Given the description of an element on the screen output the (x, y) to click on. 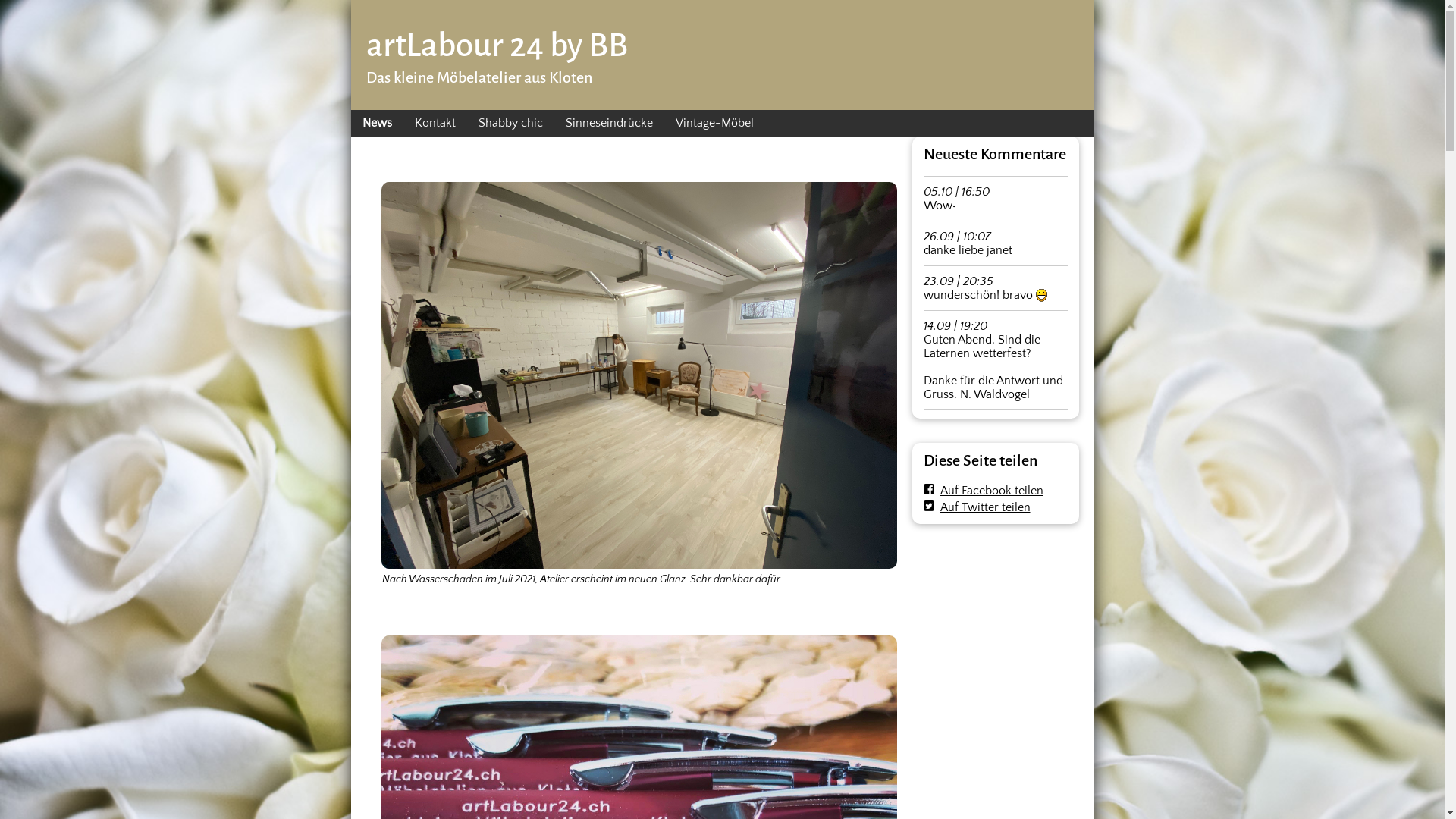
Auf Twitter teilen Element type: text (976, 507)
Kontakt Element type: text (435, 122)
Shabby chic Element type: text (510, 122)
News Element type: text (376, 122)
Auf Facebook teilen Element type: text (983, 490)
artLabour 24 by BB Element type: text (496, 44)
